Given the description of an element on the screen output the (x, y) to click on. 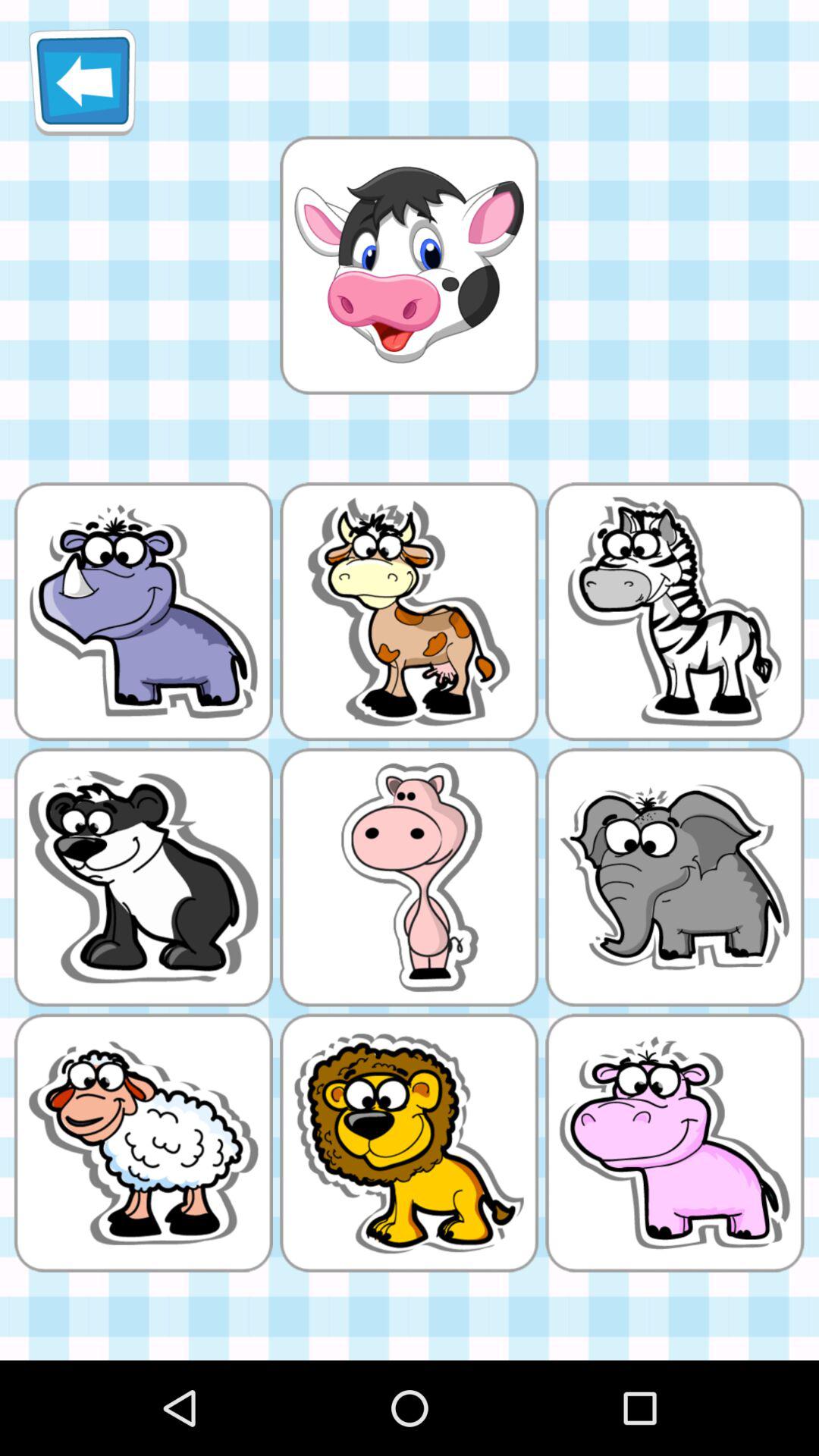
sticker (409, 265)
